Given the description of an element on the screen output the (x, y) to click on. 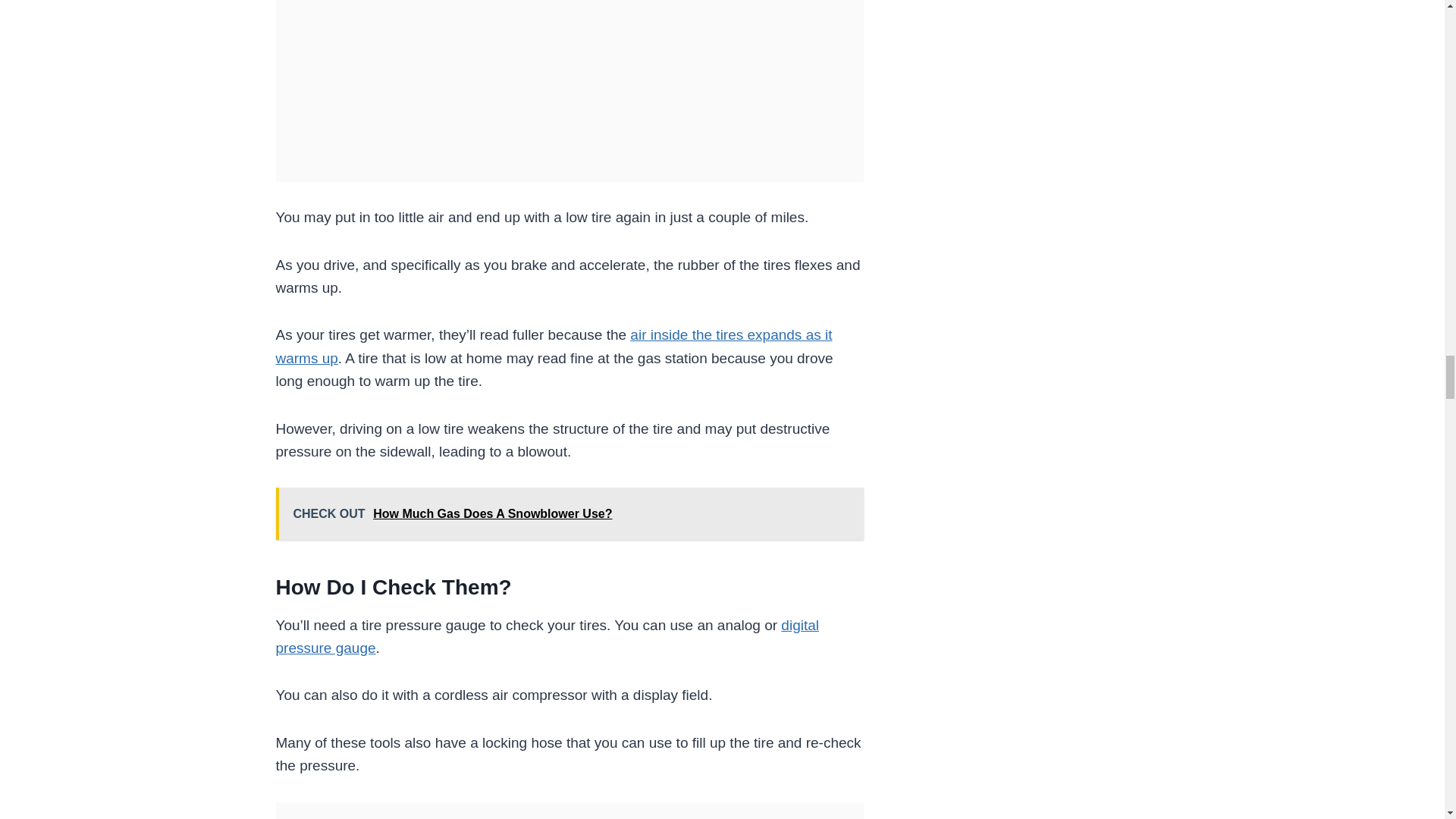
digital pressure gauge (547, 636)
CHECK OUT  How Much Gas Does A Snowblower Use? (570, 512)
air inside the tires expands as it warms up (554, 345)
